Given the description of an element on the screen output the (x, y) to click on. 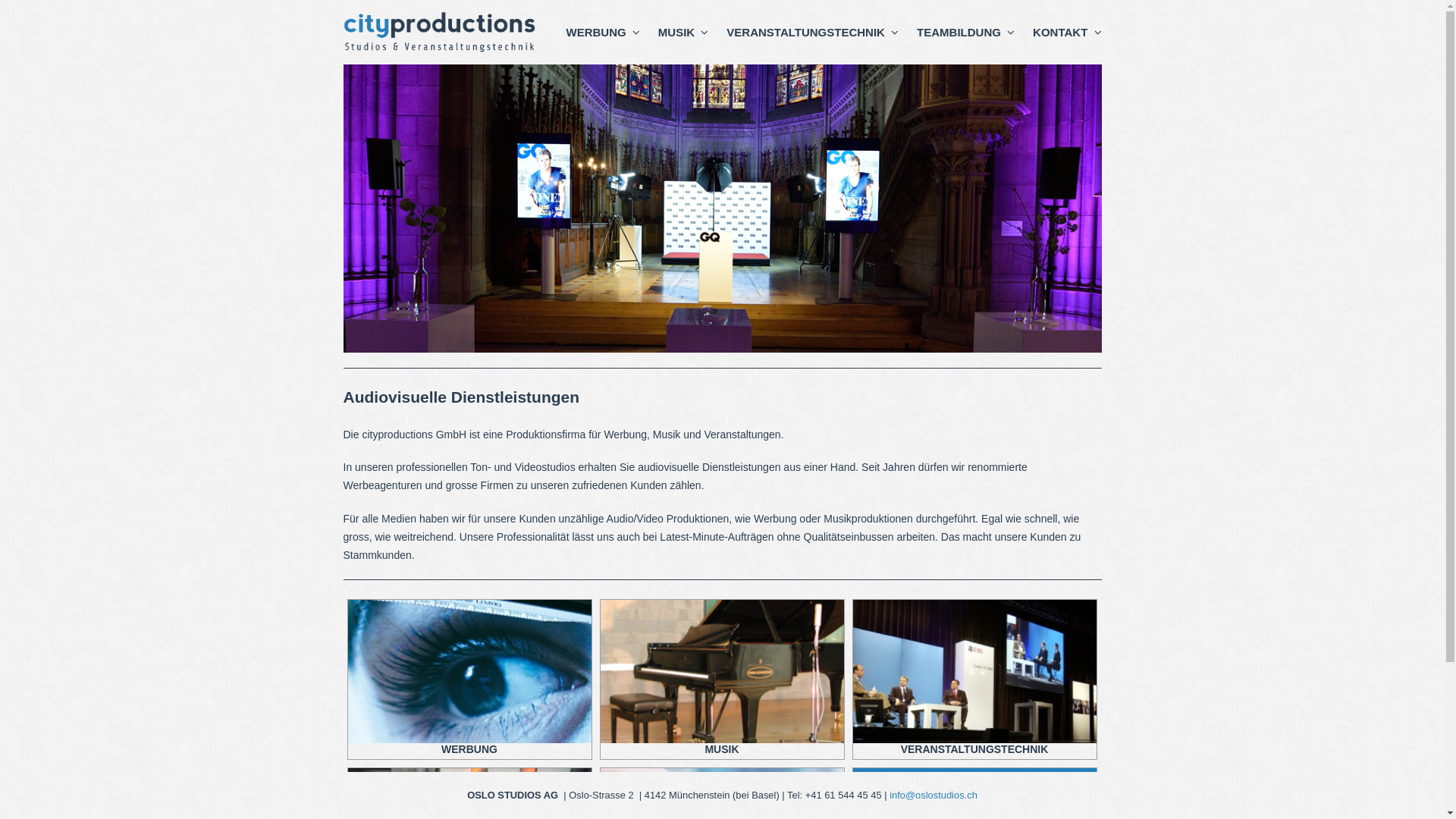
TEAMBILDUNG Element type: text (965, 32)
cityproductions Element type: hover (439, 32)
KONTAKT Element type: text (1066, 32)
WERBUNG Element type: text (602, 32)
info@oslostudios.ch Element type: text (933, 794)
VERANSTALTUNGSTECHNIK Element type: text (812, 32)
MUSIK Element type: text (683, 32)
